Given the description of an element on the screen output the (x, y) to click on. 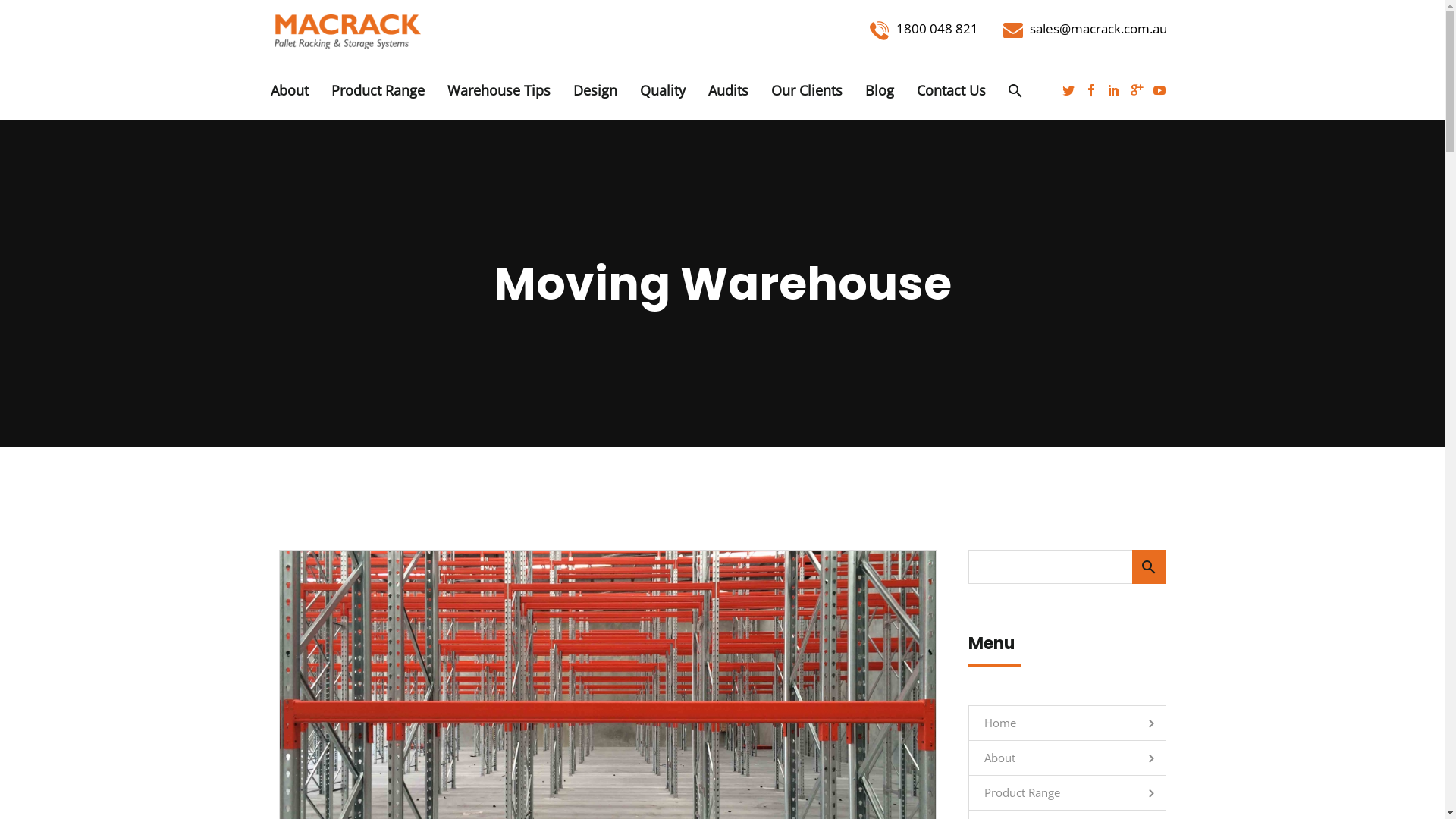
Quality Element type: text (661, 90)
twitter Element type: hover (1068, 90)
linkedin Element type: hover (1113, 90)
1800 048 821 Element type: text (923, 28)
Home Element type: text (992, 723)
sales@macrack.com.au Element type: text (1084, 28)
About Element type: text (992, 757)
Blog Element type: text (879, 90)
Product Range Element type: text (1014, 792)
Contact Us Element type: text (951, 90)
youtube Element type: hover (1159, 90)
Search Element type: text (1148, 566)
Audits Element type: text (727, 90)
About Element type: text (289, 90)
Warehouse Tips Element type: text (498, 90)
Design Element type: text (594, 90)
Product Range Element type: text (378, 90)
Our Clients Element type: text (806, 90)
googleplus Element type: hover (1136, 90)
facebook Element type: hover (1090, 90)
